Given the description of an element on the screen output the (x, y) to click on. 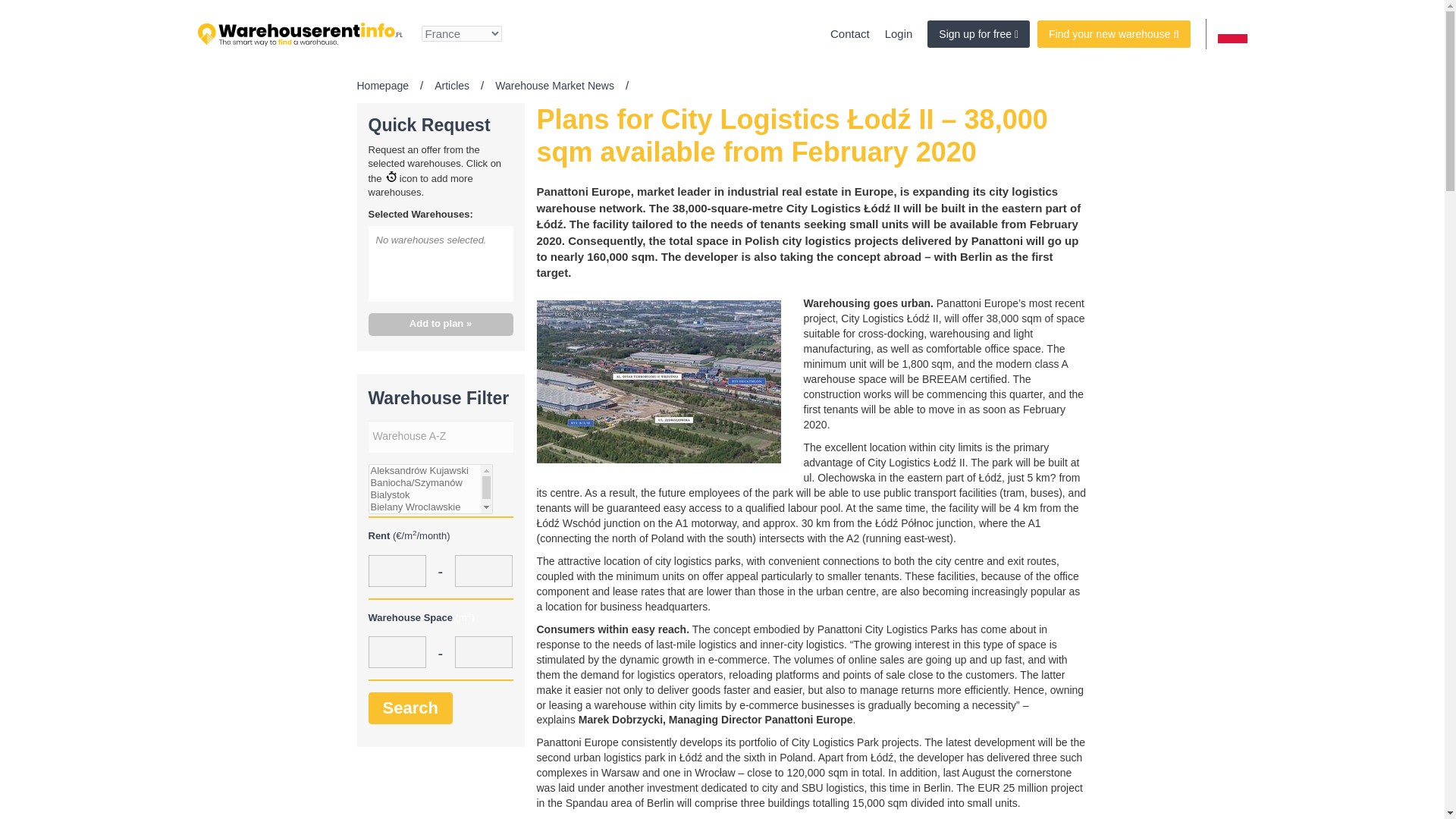
Login (898, 33)
Articles (450, 85)
Contact (849, 33)
Warehouse Market News (554, 85)
Property Designer (978, 33)
Sign up for free (978, 33)
Homepage (382, 85)
Search (410, 707)
Add to plan (441, 324)
Find your new warehouse (1113, 33)
